Given the description of an element on the screen output the (x, y) to click on. 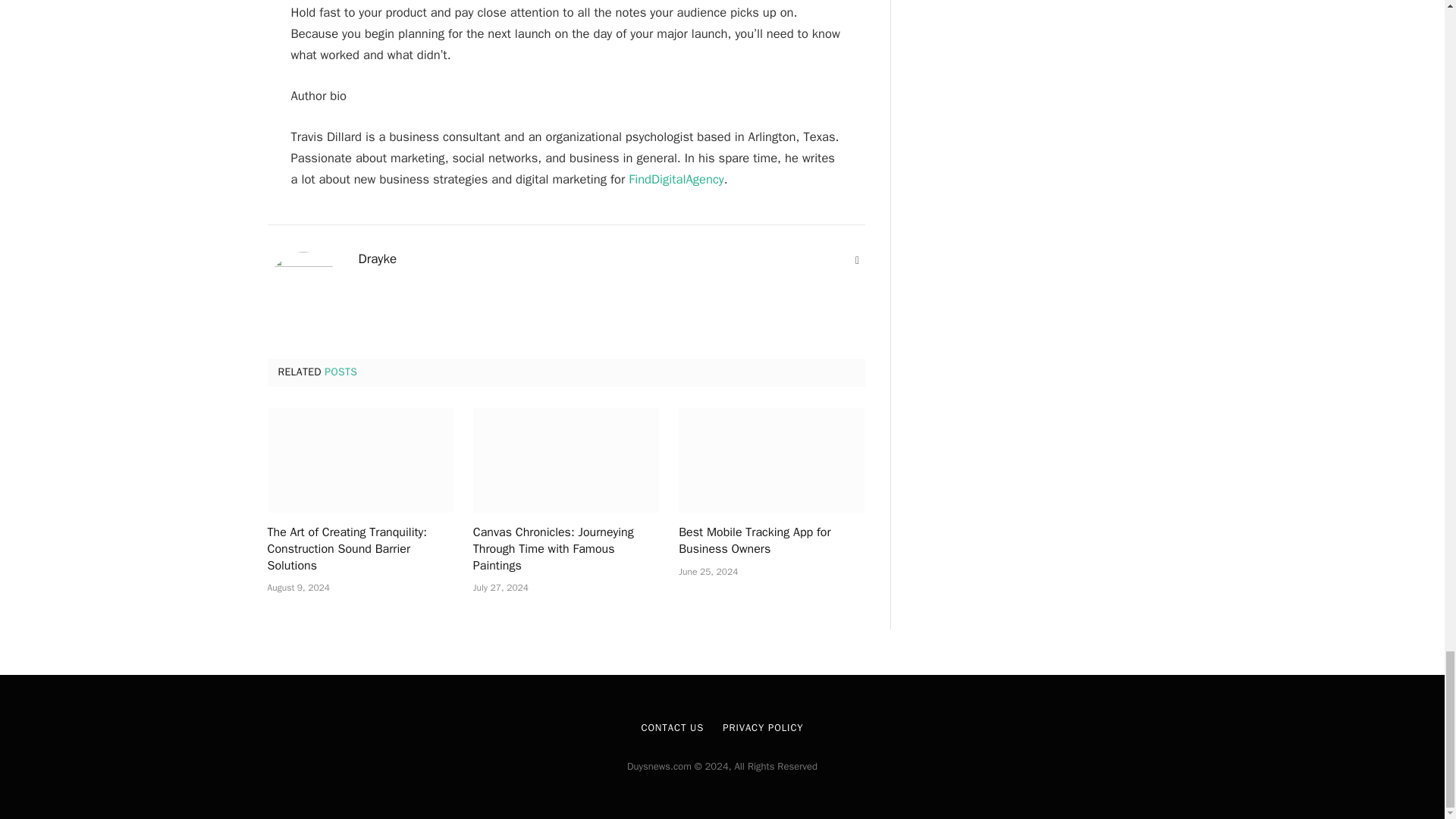
Best Mobile Tracking App for Business Owners (771, 459)
Posts by Drayke (377, 258)
Website (856, 260)
Best Mobile Tracking App for Business Owners (771, 540)
FindDigitalAgency (675, 179)
Website (856, 260)
Drayke (377, 258)
